Given the description of an element on the screen output the (x, y) to click on. 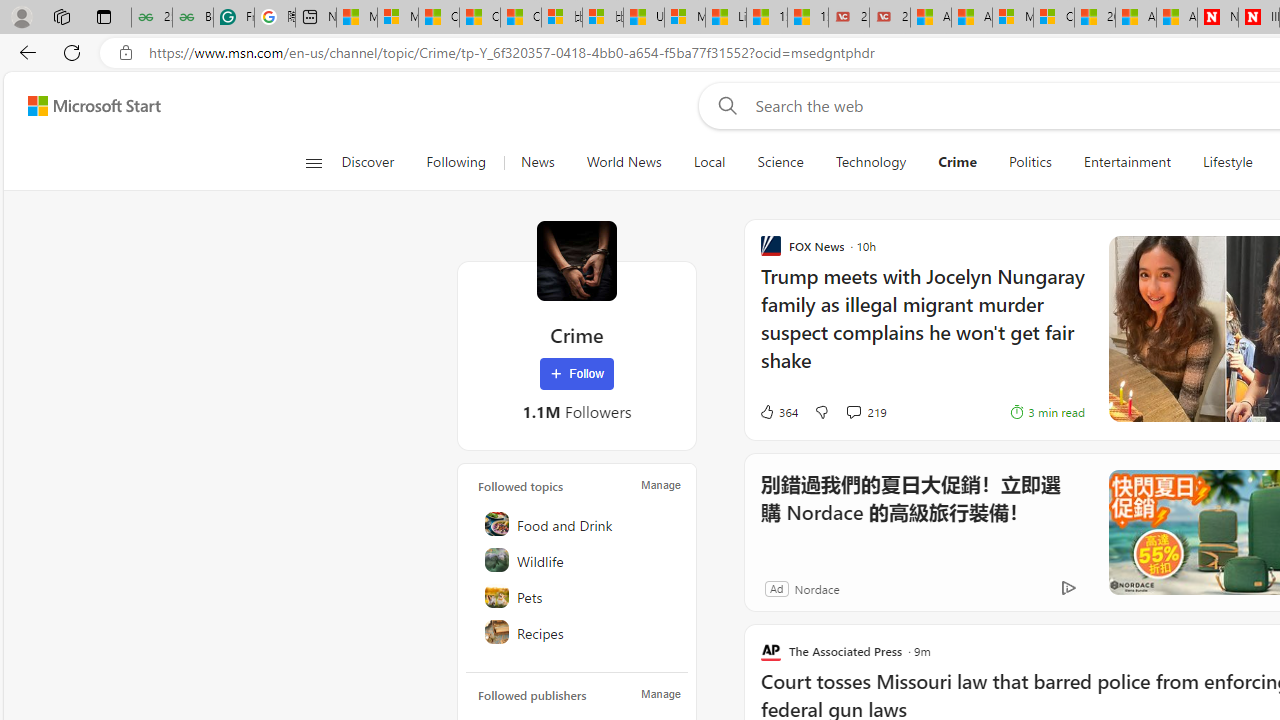
15 Ways Modern Life Contradicts the Teachings of Jesus (808, 17)
364 Like (778, 412)
Food and Drink (578, 524)
Wildlife (578, 560)
